Given the description of an element on the screen output the (x, y) to click on. 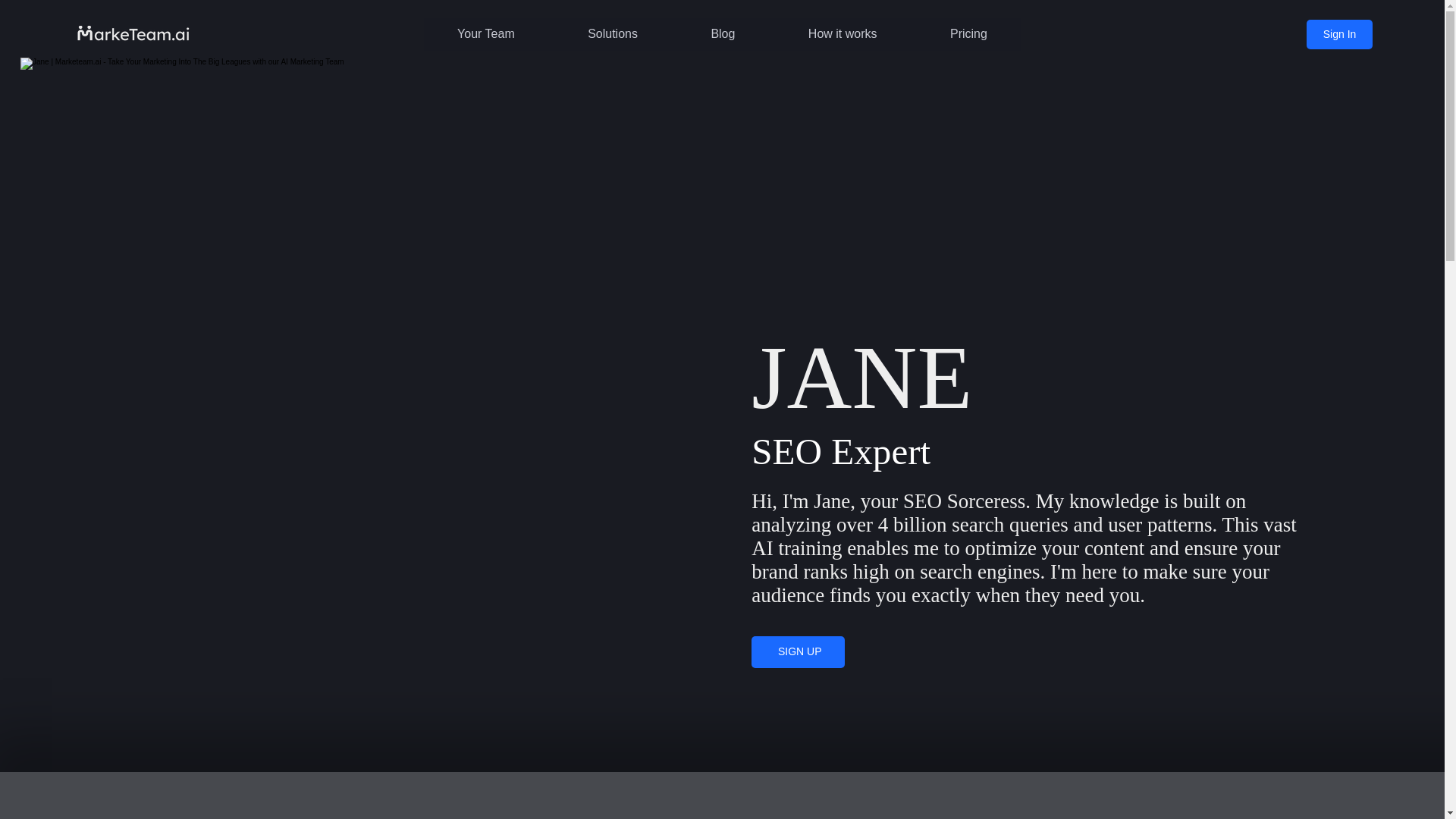
Sign In (1338, 33)
Solutions (612, 33)
Pricing (968, 33)
Blog (722, 33)
SIGN UP (797, 652)
Your Team (485, 33)
How it works (842, 33)
